Given the description of an element on the screen output the (x, y) to click on. 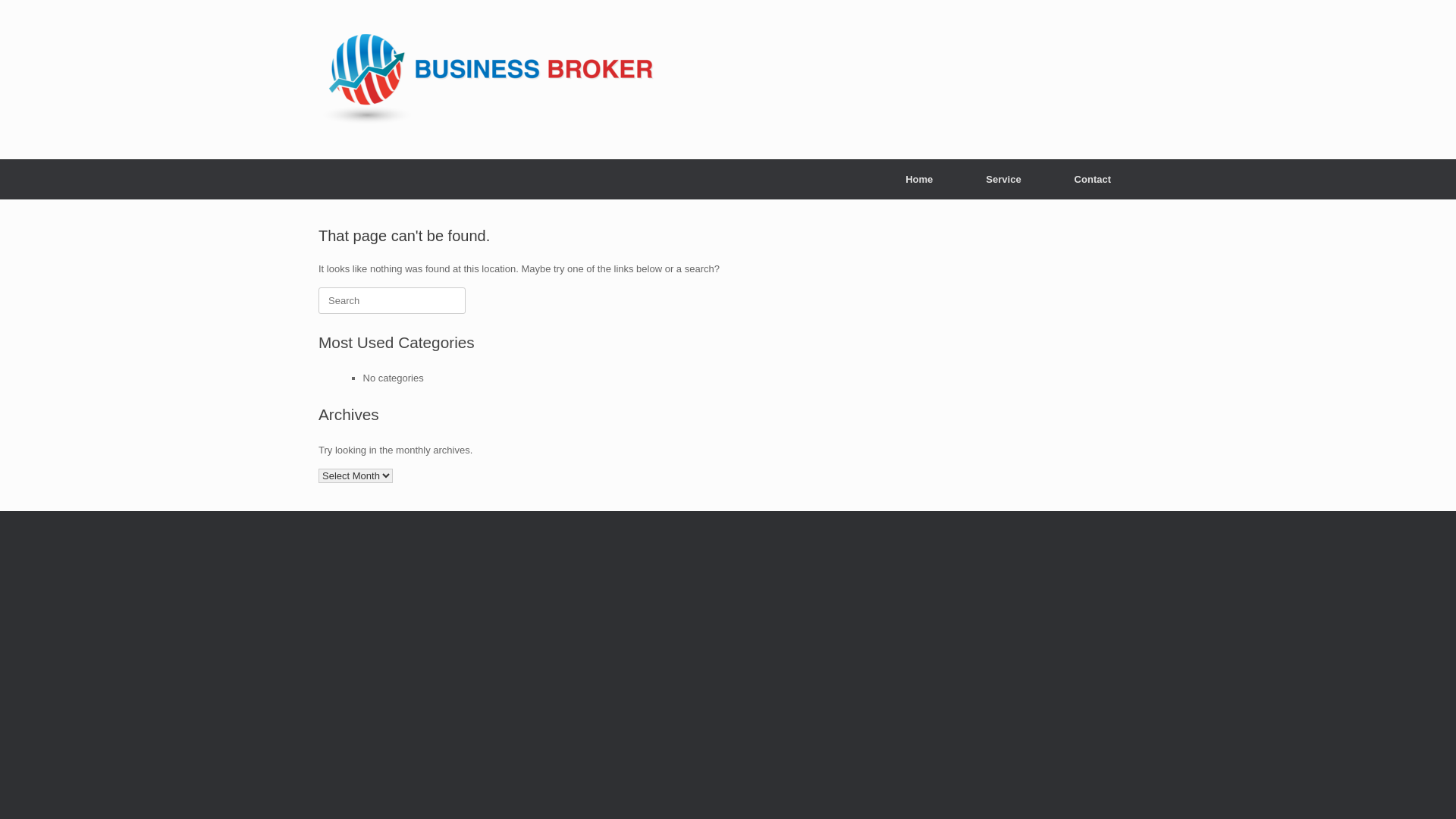
Home Element type: text (918, 179)
Contact Element type: text (1092, 179)
Business Broker Element type: hover (486, 79)
Service Element type: text (1003, 179)
